Given the description of an element on the screen output the (x, y) to click on. 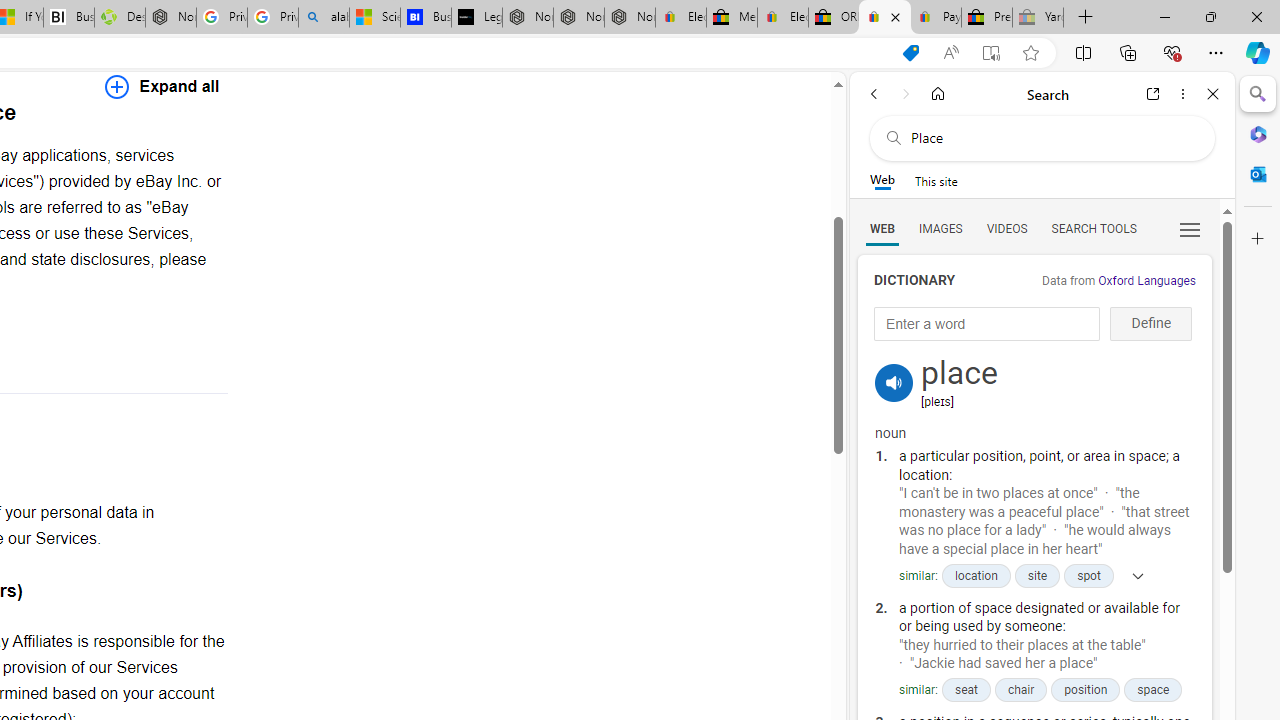
Outlook (1258, 174)
WEB   (882, 228)
seat (965, 690)
pronounce (893, 382)
Oxford Languages (1146, 281)
Search Filter, VIDEOS (1006, 228)
Expand all (162, 86)
